Given the description of an element on the screen output the (x, y) to click on. 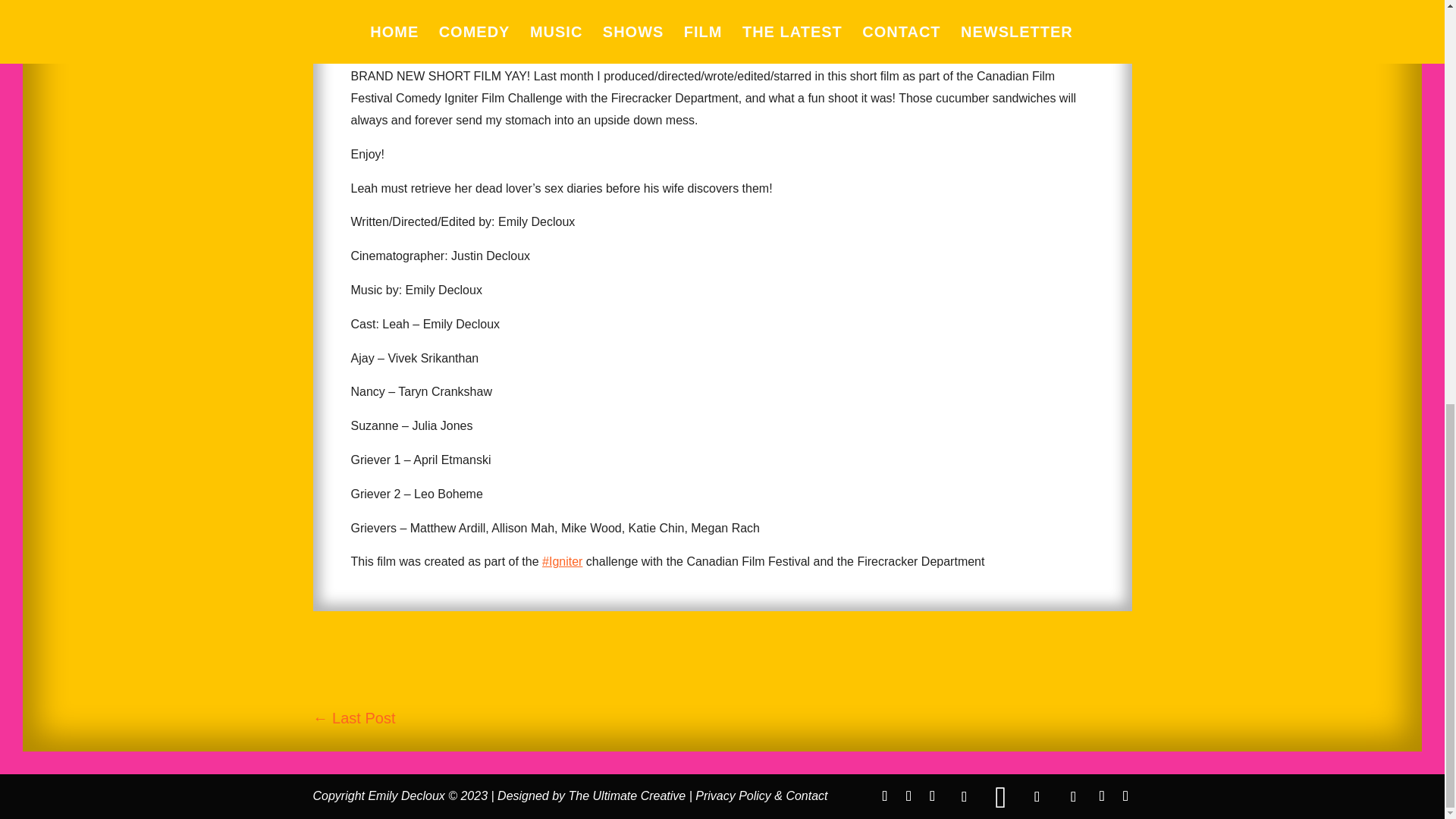
My Dead Lover's Diaries (721, 27)
The Ultimate Creative (627, 795)
